Given the description of an element on the screen output the (x, y) to click on. 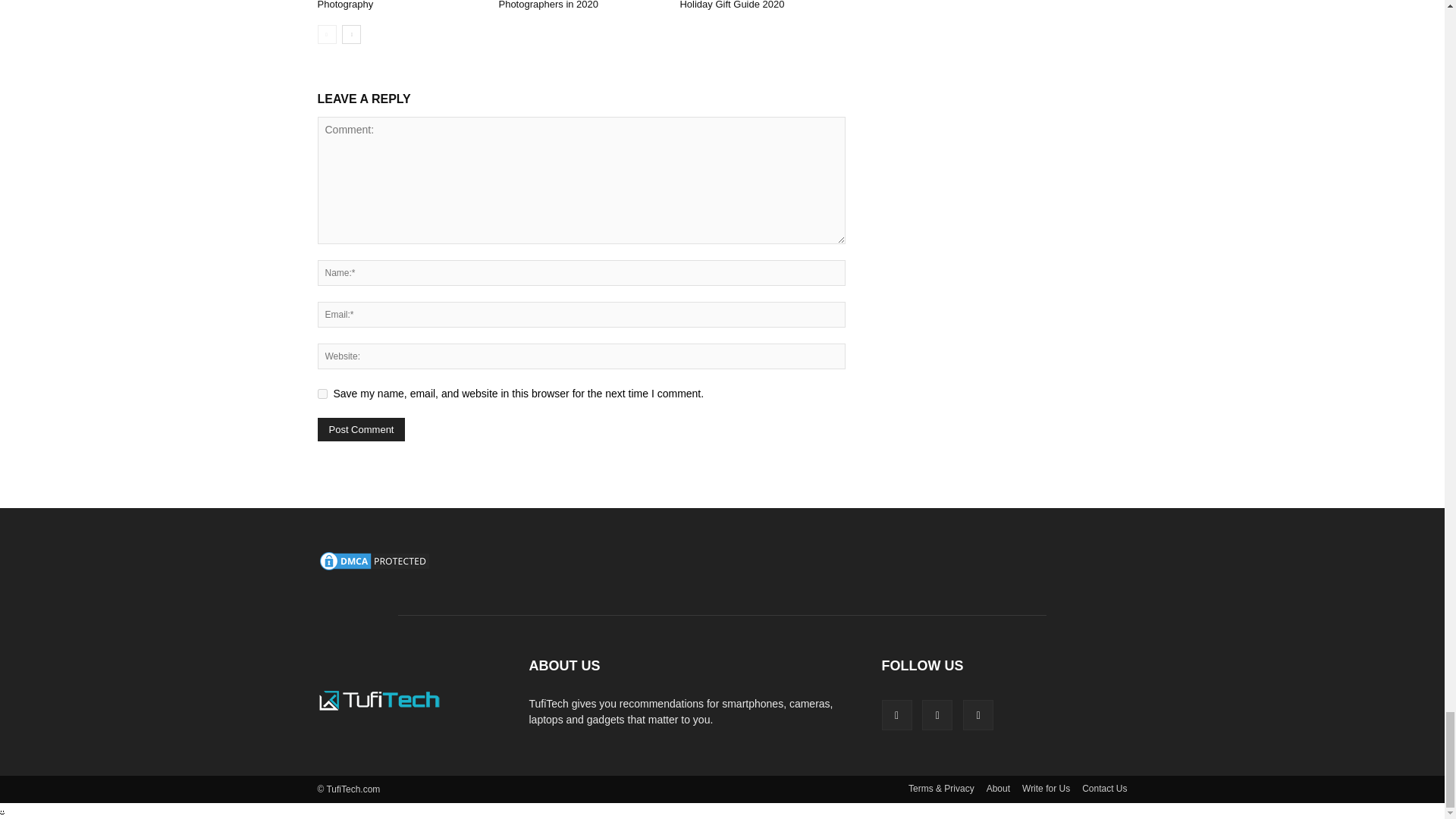
14 Awesome Holiday Gifts for Photographers in 2020 (562, 4)
yes (321, 393)
5 Best DSLR Cameras for Wildlife Photography (391, 4)
Post Comment (360, 429)
